Given the description of an element on the screen output the (x, y) to click on. 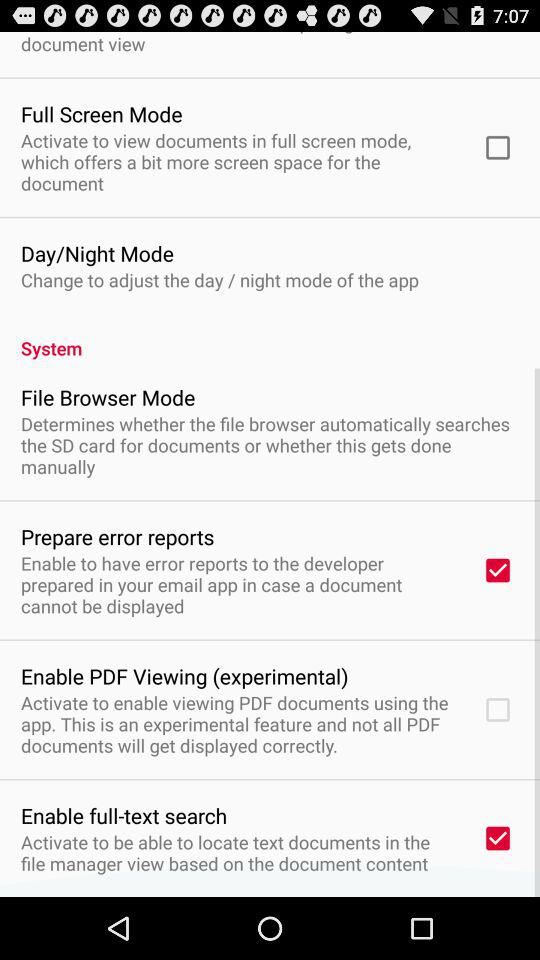
select the enable full text (124, 815)
